Given the description of an element on the screen output the (x, y) to click on. 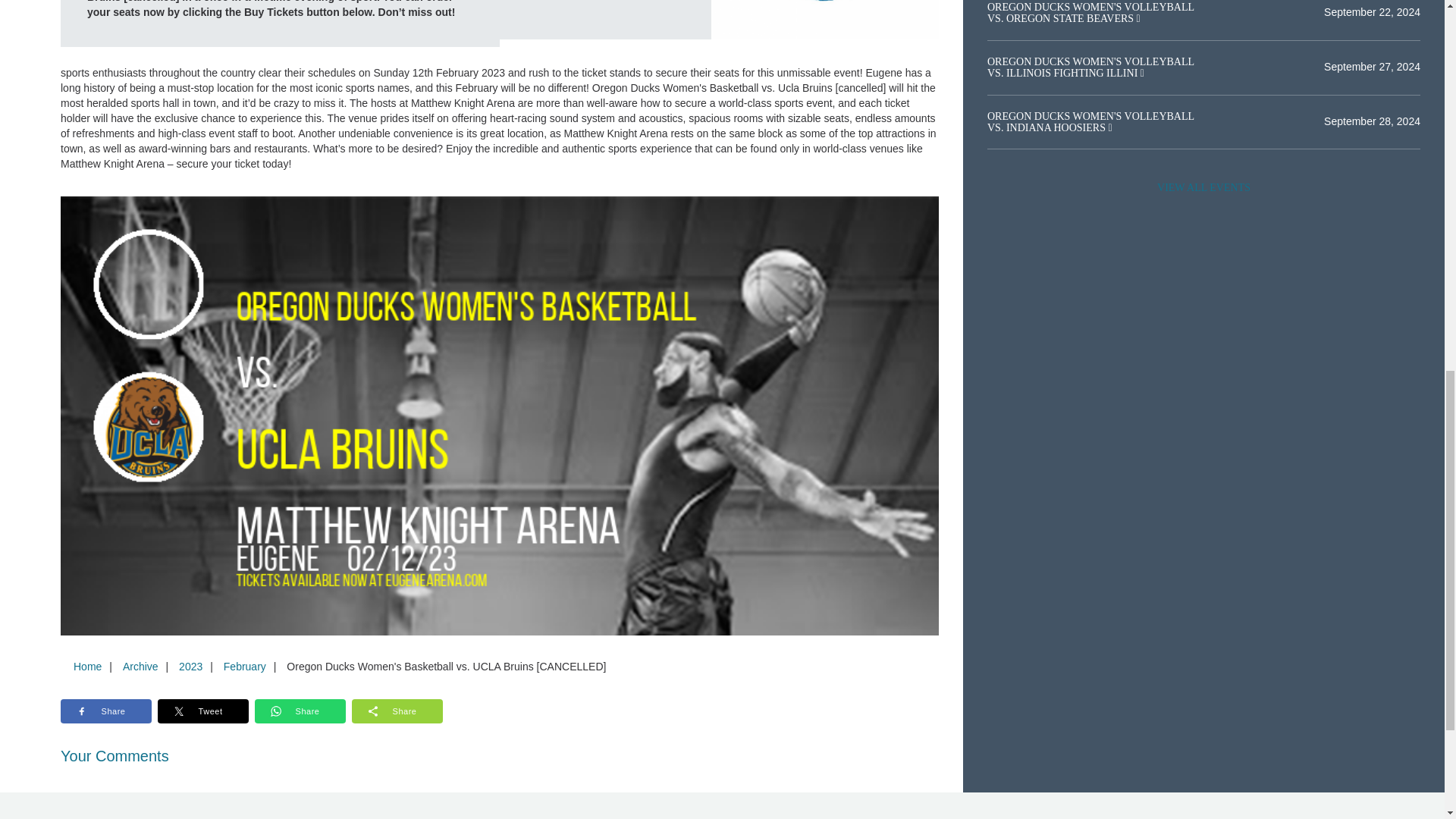
VIEW ALL EVENTS (1203, 187)
Home (87, 666)
2023 (190, 666)
February (244, 666)
Archive (140, 666)
